Given the description of an element on the screen output the (x, y) to click on. 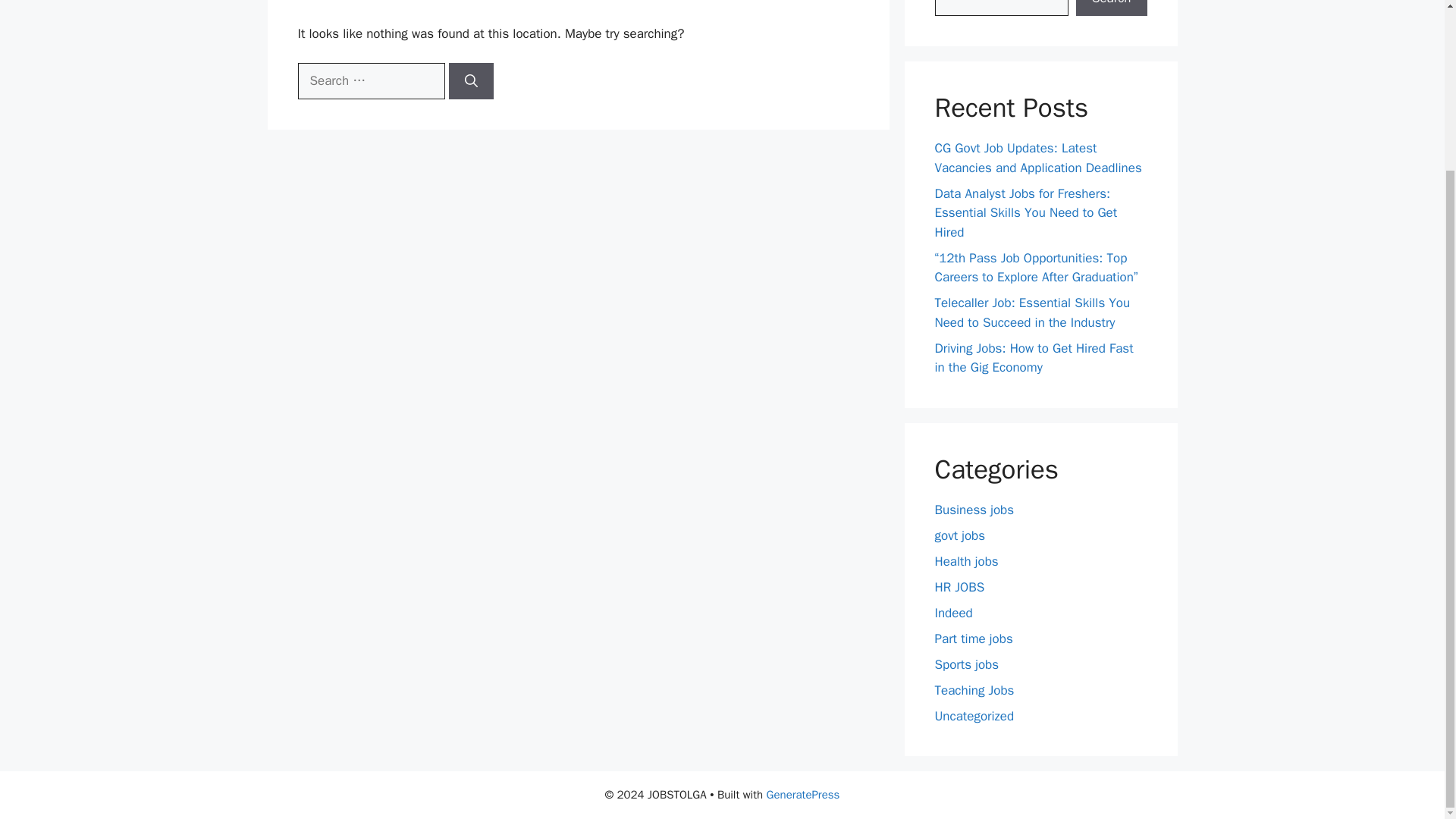
Sports jobs (966, 664)
Search (1111, 8)
govt jobs (959, 535)
Search for: (370, 81)
Driving Jobs: How to Get Hired Fast in the Gig Economy (1033, 357)
Health jobs (965, 561)
Teaching Jobs (973, 690)
Part time jobs (972, 638)
